Given the description of an element on the screen output the (x, y) to click on. 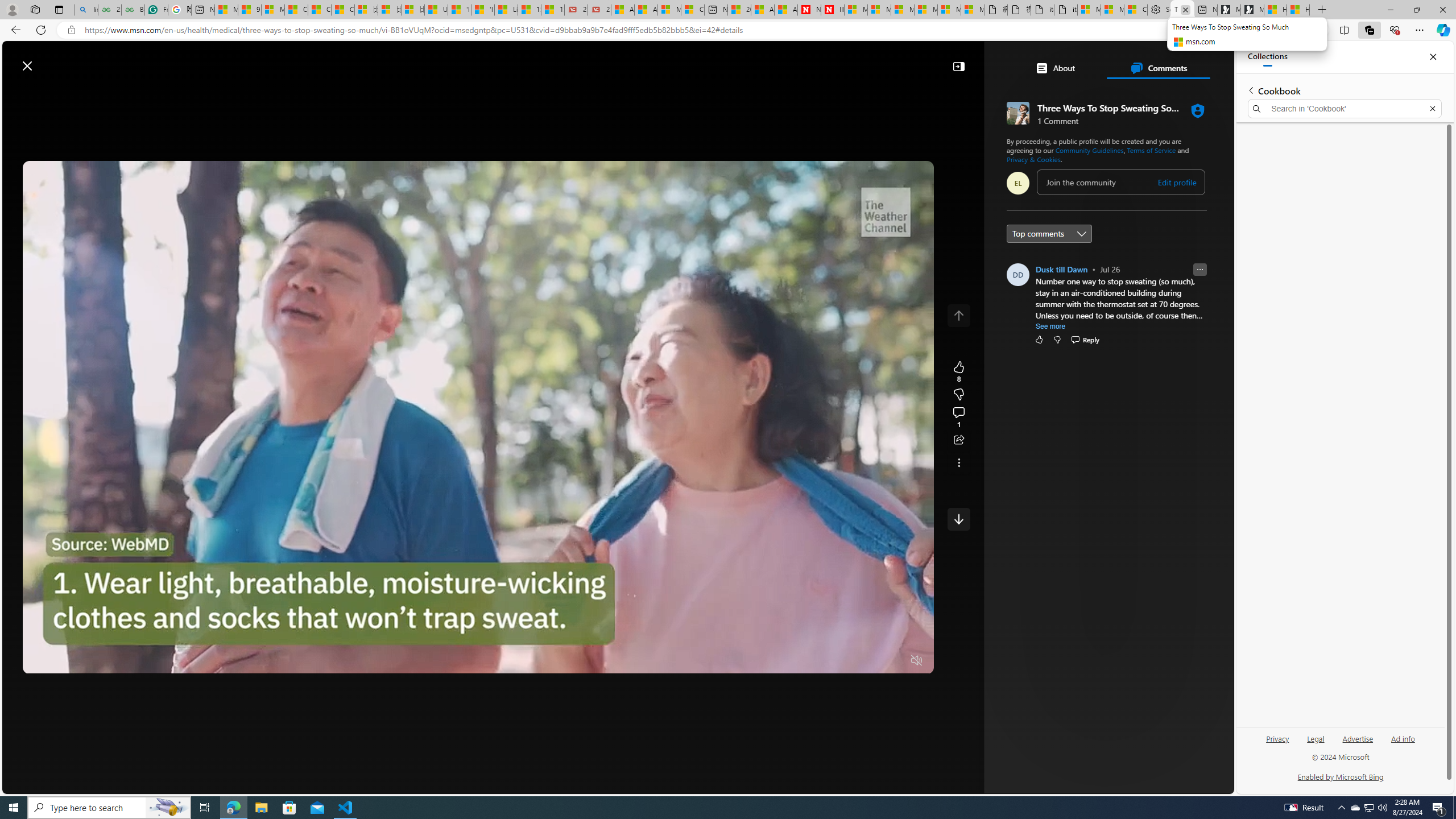
itconcepthk.com/projector_solutions.mp4 (1065, 9)
8 Like (958, 371)
comment-box (1120, 181)
Seek Forward (85, 660)
Edit profile (1176, 181)
Progress Bar (478, 646)
Consumer Health Data Privacy Policy (1135, 9)
Three Ways To Stop Sweating So Much (1182, 9)
